Given the description of an element on the screen output the (x, y) to click on. 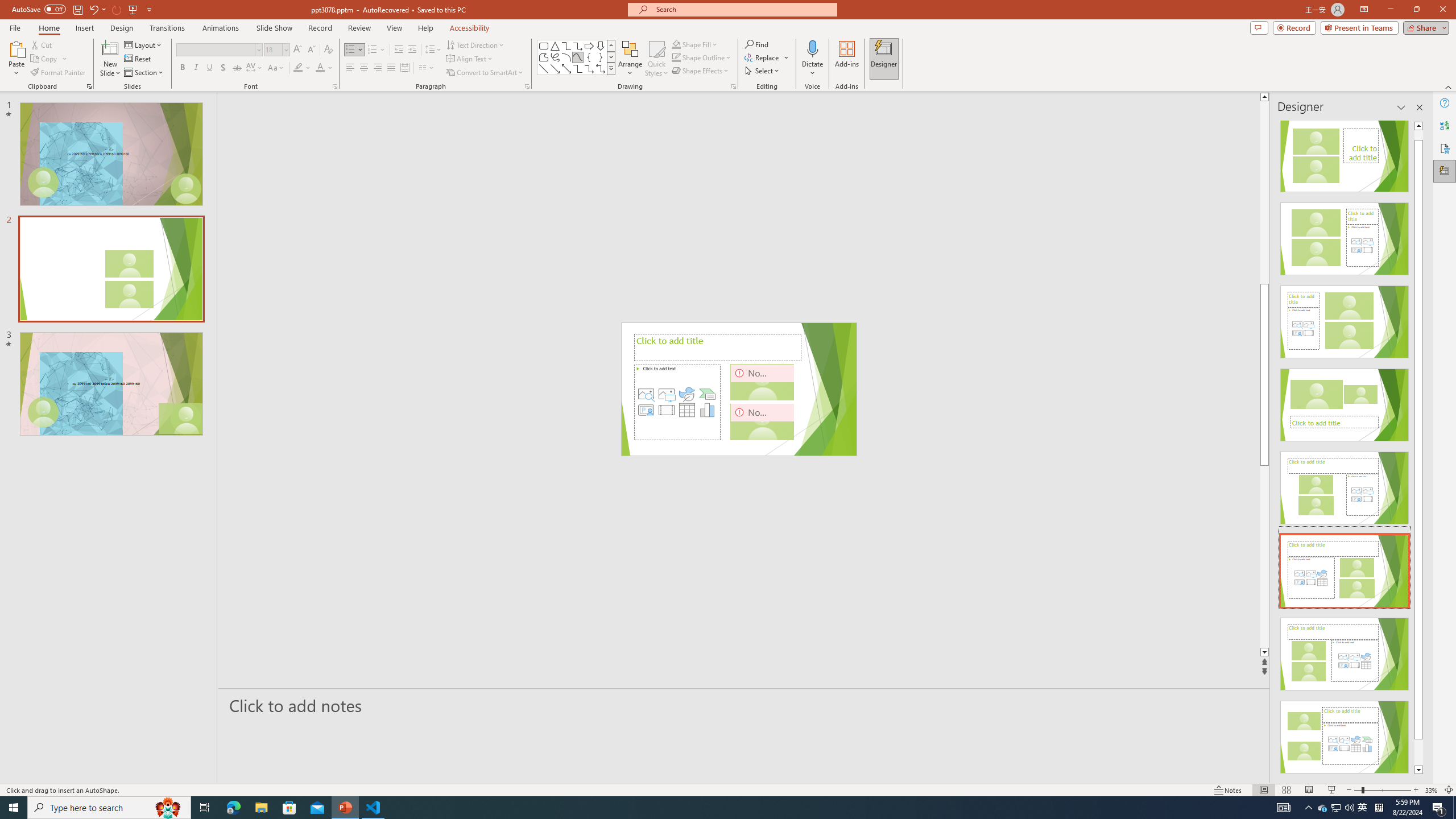
Stock Images (646, 394)
